Given the description of an element on the screen output the (x, y) to click on. 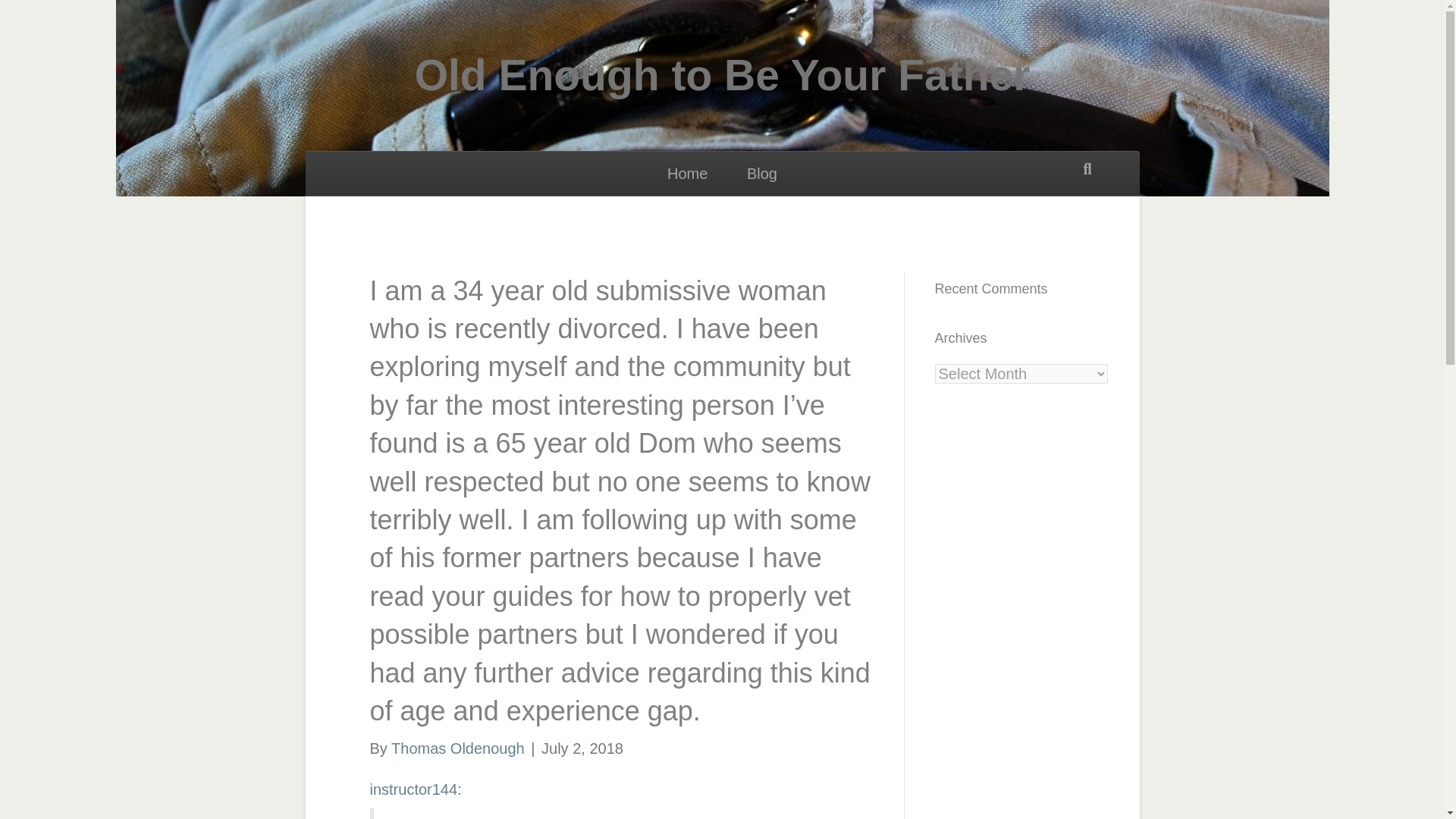
Home (687, 173)
Old Enough to Be Your Father (721, 75)
Blog (761, 173)
Thomas Oldenough (457, 748)
instructor144 (413, 789)
